Given the description of an element on the screen output the (x, y) to click on. 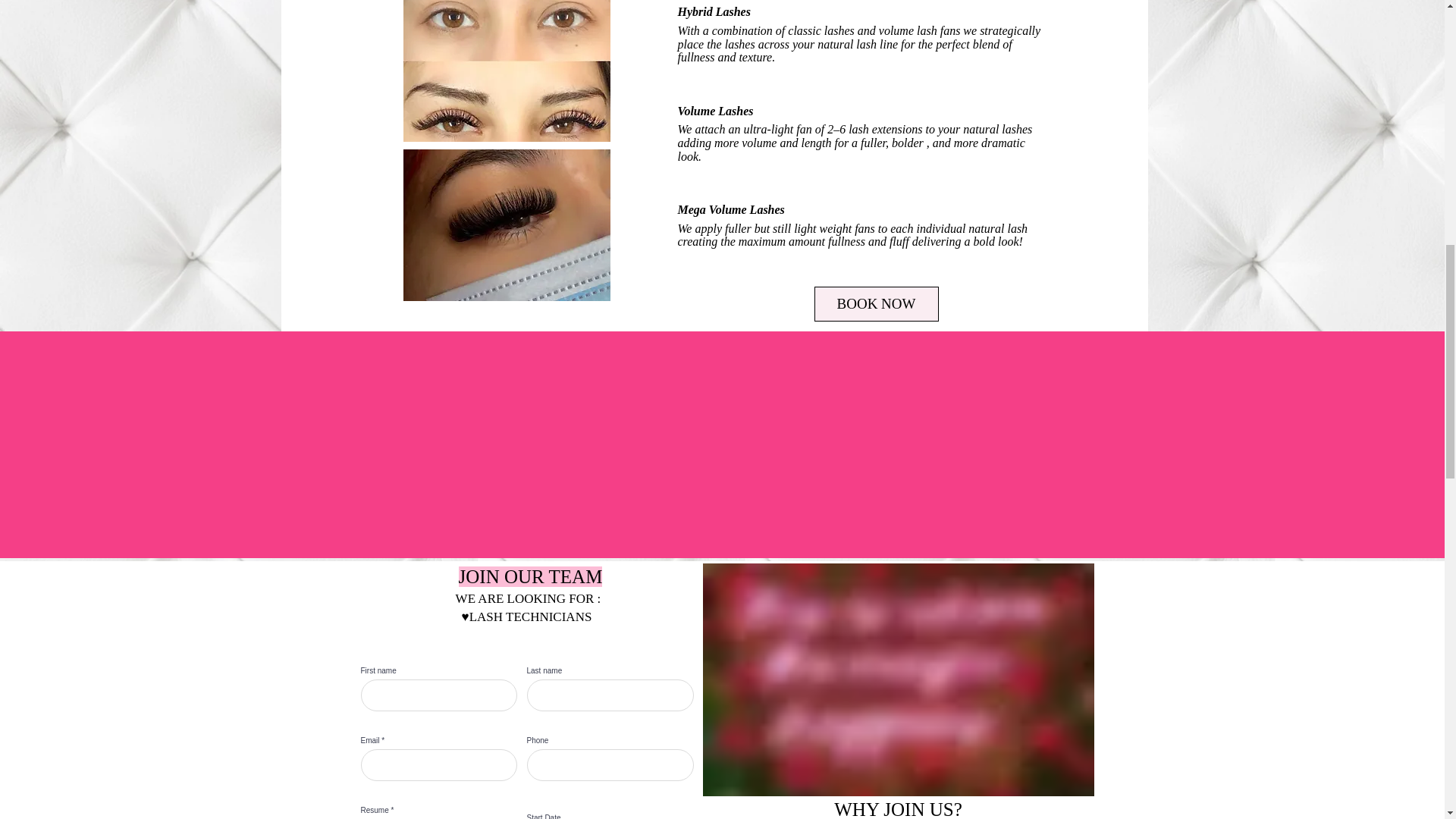
BOOK NOW (876, 303)
